Given the description of an element on the screen output the (x, y) to click on. 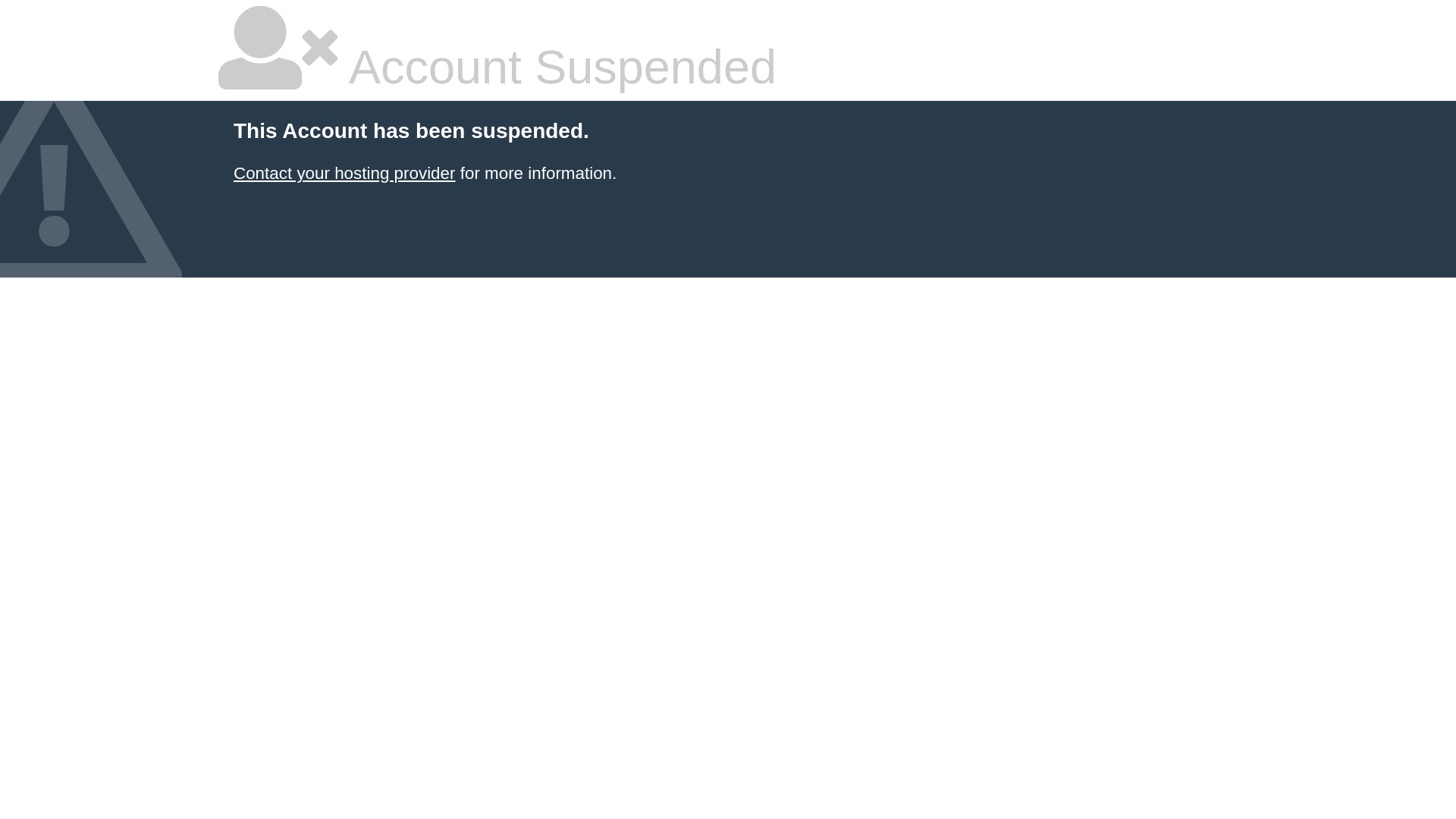
Contact your hosting provider Element type: text (344, 172)
